Given the description of an element on the screen output the (x, y) to click on. 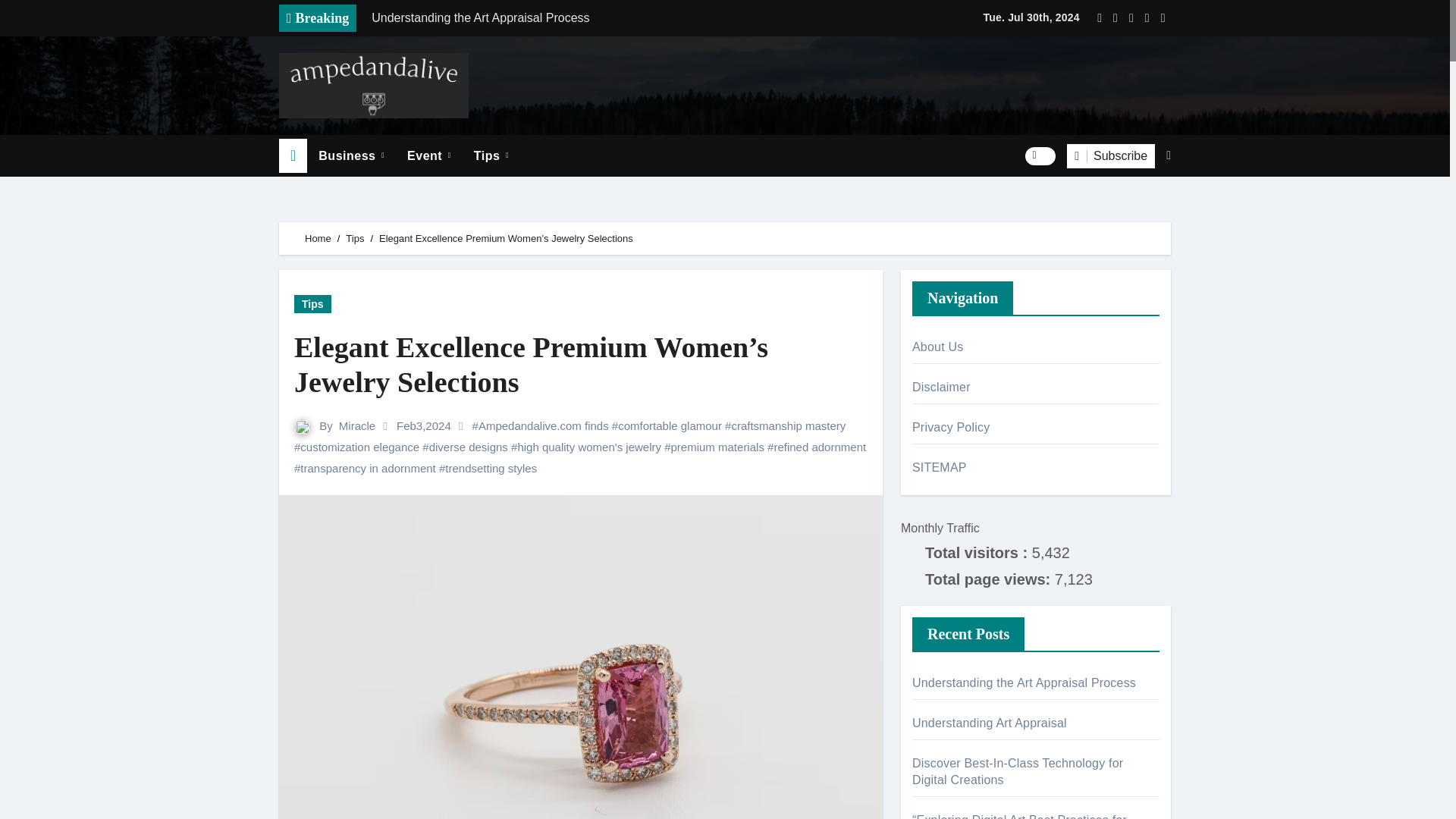
Understanding the Art Appraisal Process (574, 18)
Event (429, 155)
Business (351, 155)
Tips (491, 155)
